Given the description of an element on the screen output the (x, y) to click on. 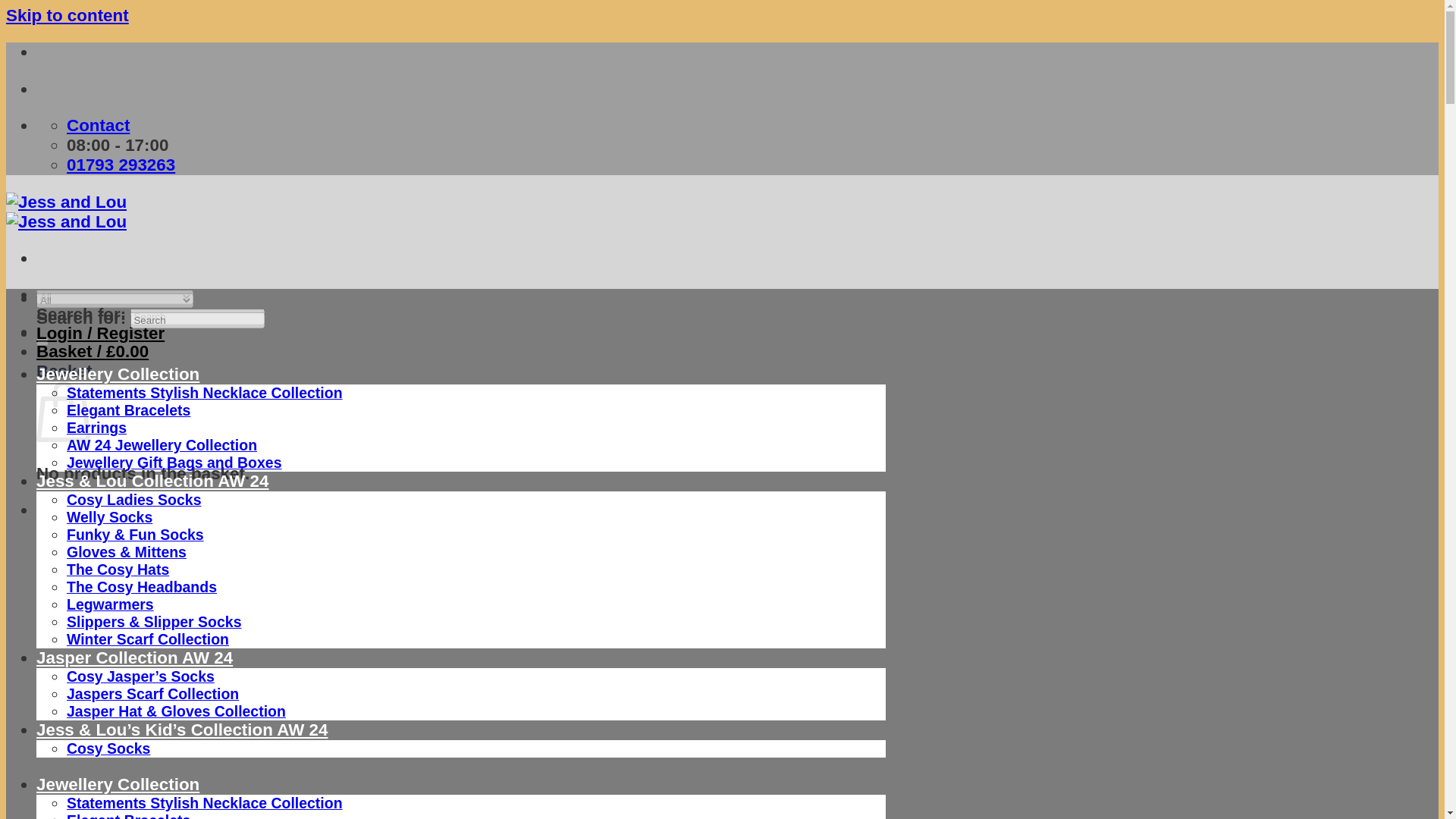
Cosy Socks (107, 748)
Earrings (96, 427)
Winter Scarf Collection (147, 638)
Contact (97, 125)
Statements Stylish Necklace Collection (204, 802)
Search (42, 339)
01793 293263 (120, 164)
Welly Socks (109, 516)
Legwarmers (110, 604)
Jewellery Gift Bags and Boxes (174, 462)
